Given the description of an element on the screen output the (x, y) to click on. 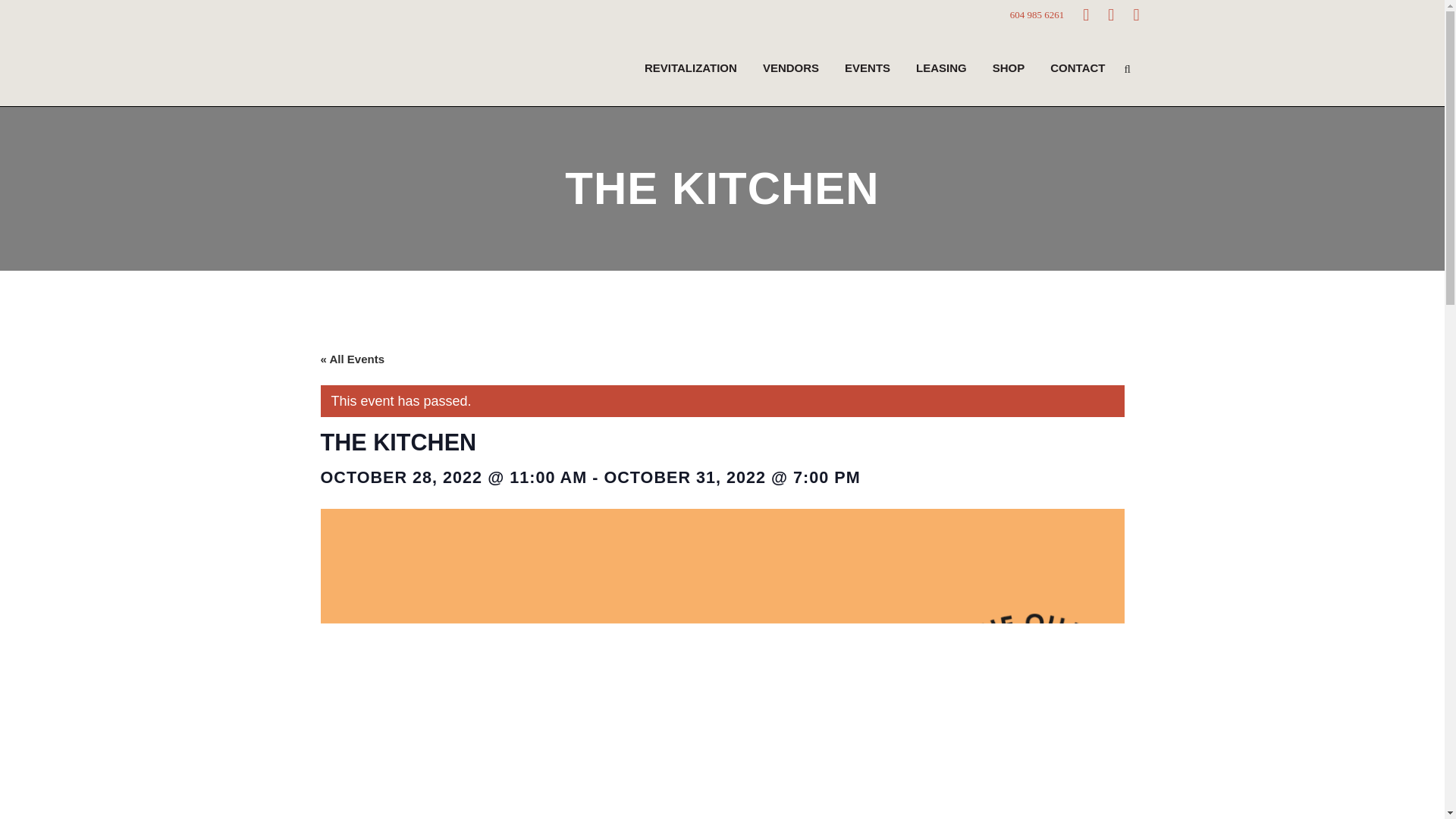
CONTACT (1077, 68)
LEASING (940, 68)
REVITALIZATION (690, 68)
604 985 6261 (1037, 14)
VENDORS (790, 68)
EVENTS (866, 68)
